Given the description of an element on the screen output the (x, y) to click on. 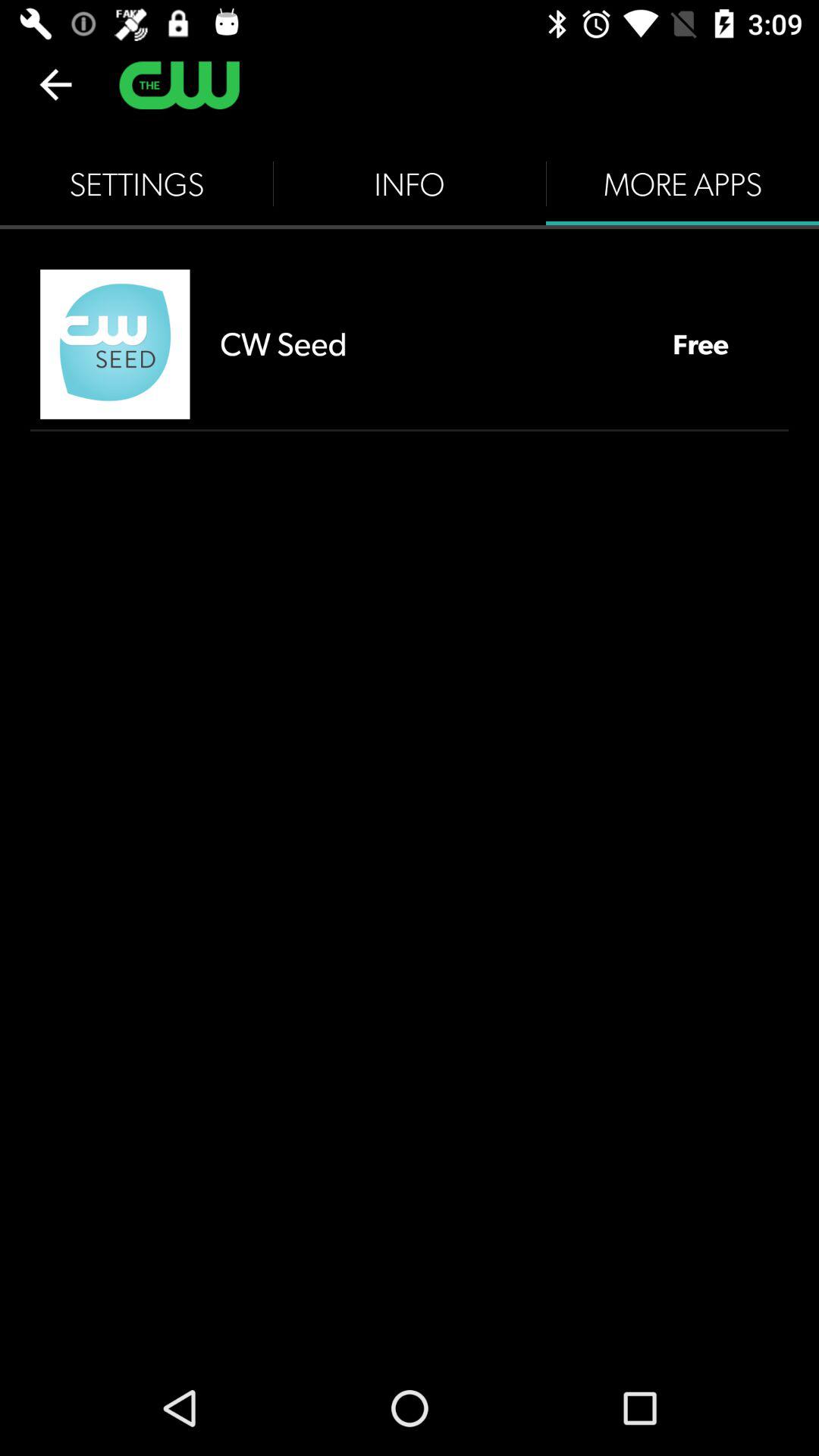
swipe to the info icon (409, 184)
